Given the description of an element on the screen output the (x, y) to click on. 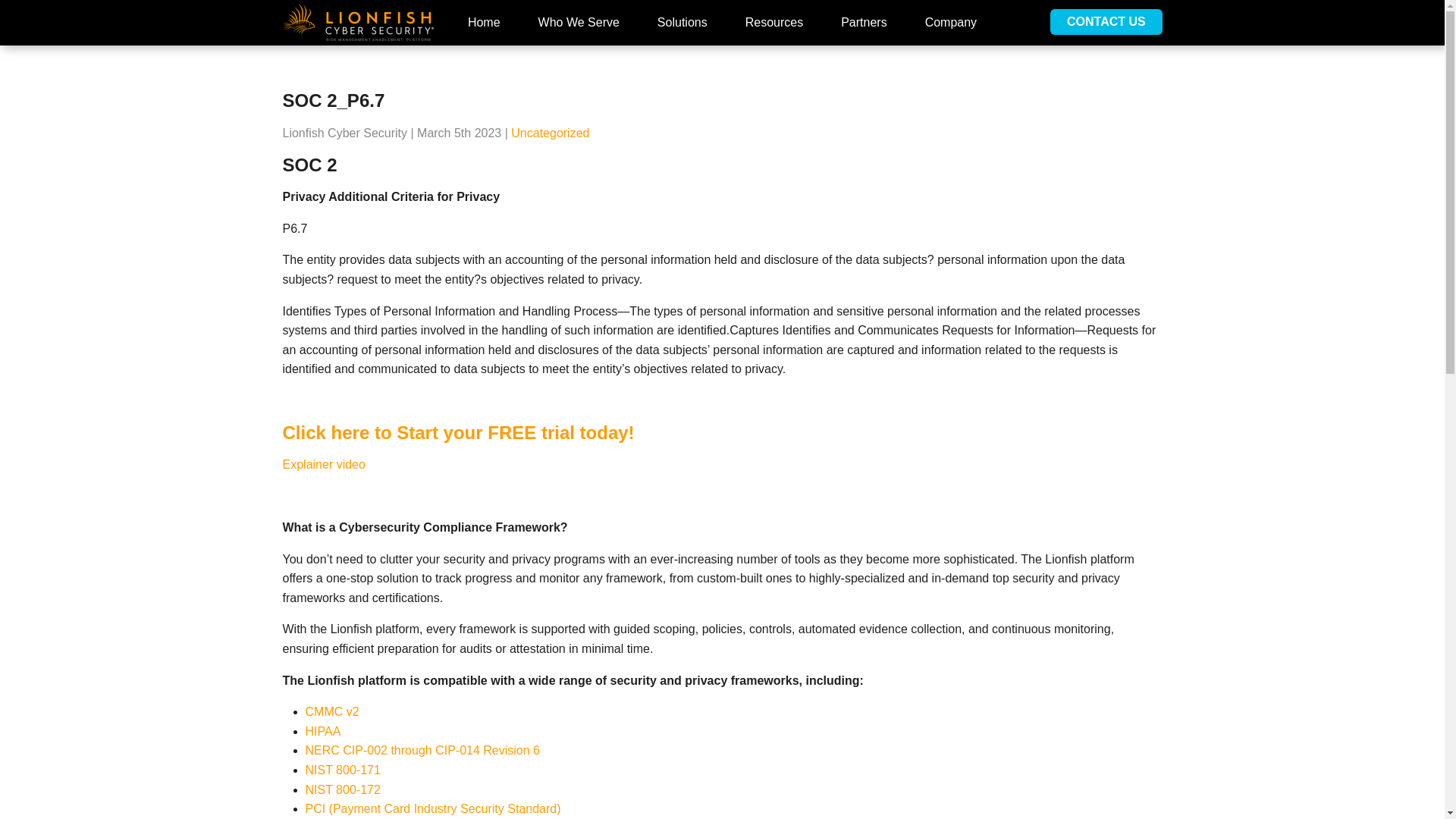
Solutions (682, 22)
Resources (774, 22)
Lionfish Cyber Security (357, 22)
Home (483, 22)
CONTACT US (1105, 22)
Who We Serve (579, 22)
